Given the description of an element on the screen output the (x, y) to click on. 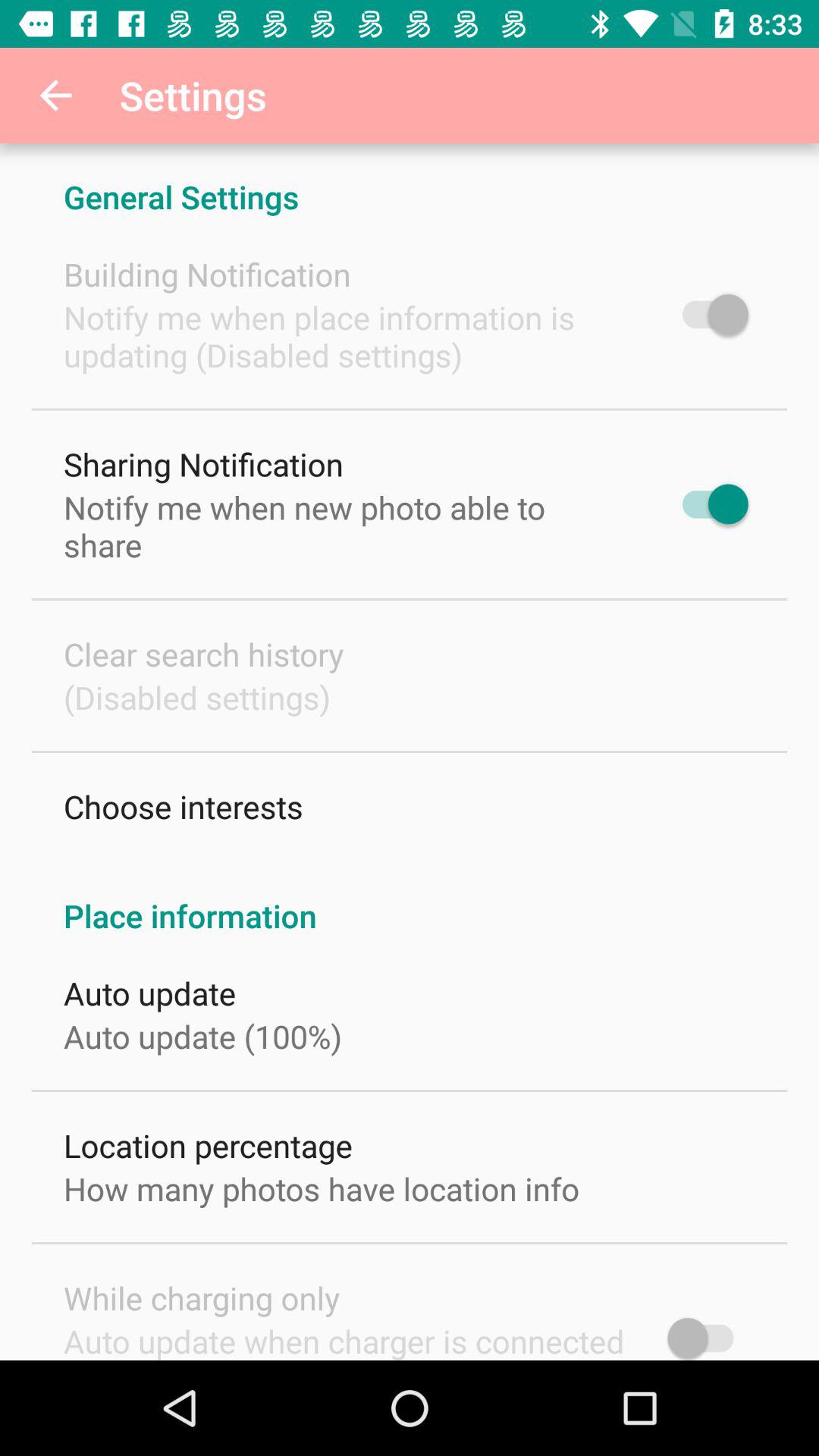
turn off item below how many photos item (201, 1297)
